Given the description of an element on the screen output the (x, y) to click on. 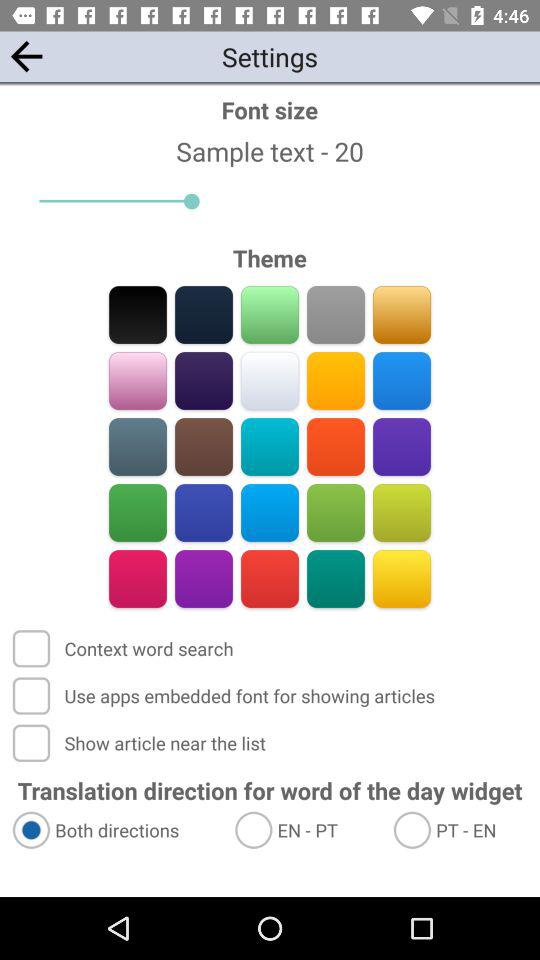
color select (335, 578)
